Given the description of an element on the screen output the (x, y) to click on. 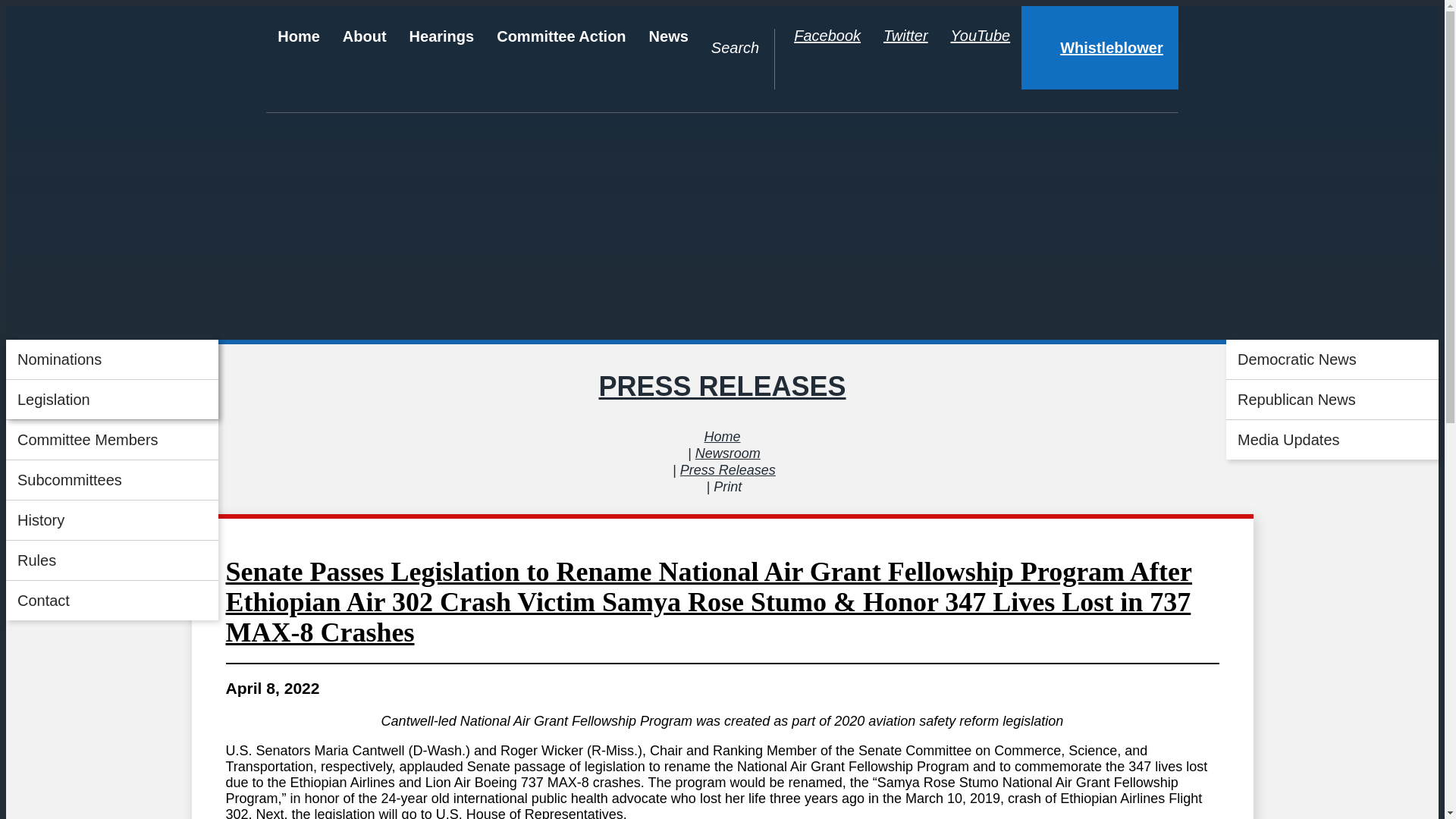
Whistleblower (1099, 47)
Committee Members (111, 439)
Rules (111, 559)
History (111, 519)
Facebook (826, 35)
Twitter (905, 35)
Search (734, 47)
Contact (111, 599)
YouTube (980, 35)
The Ranking Member (111, 399)
